Given the description of an element on the screen output the (x, y) to click on. 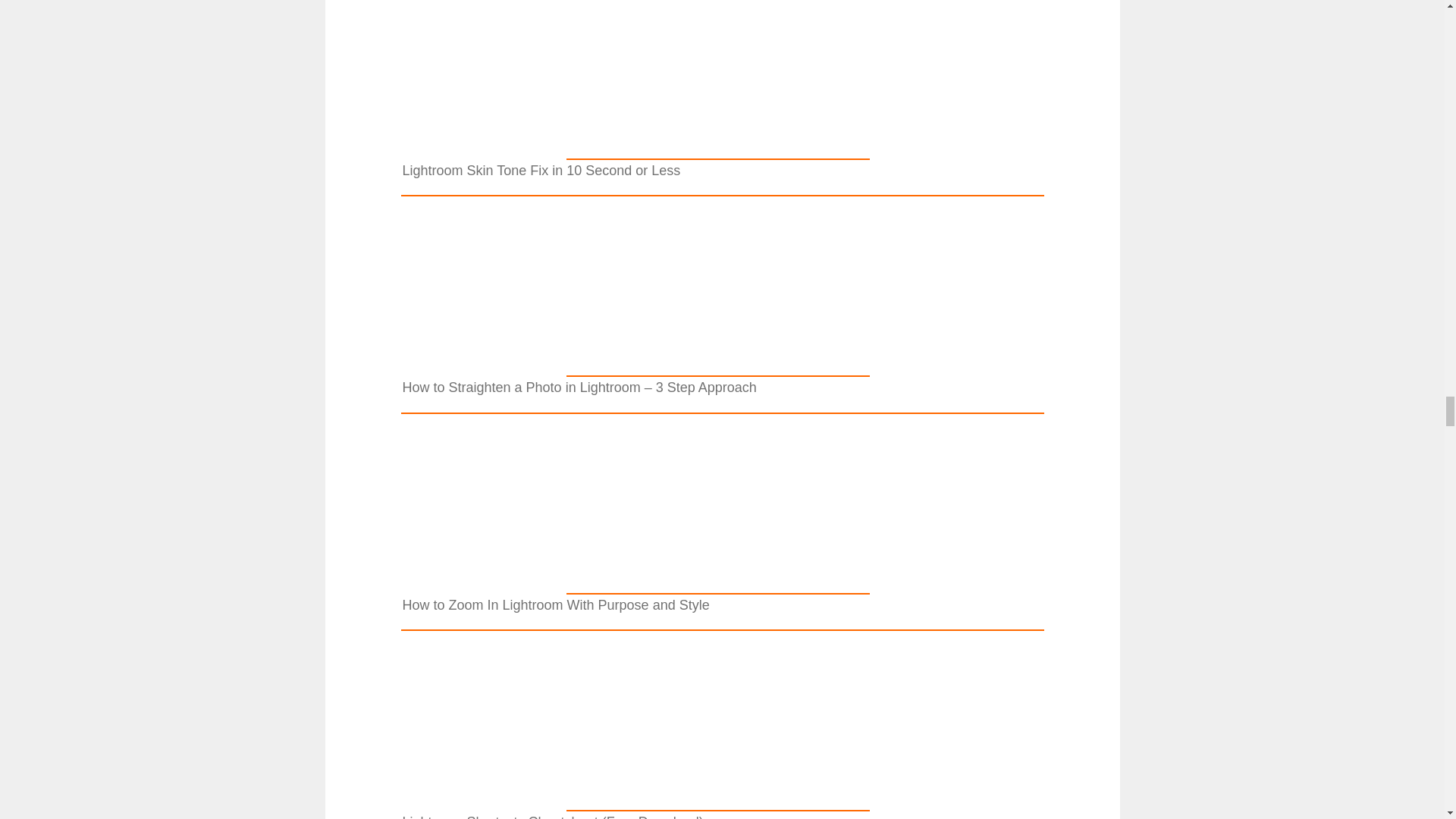
Lightroom Skin Tone Fix in 10 Second or Less (717, 149)
How to Zoom In Lightroom With Purpose and Style (717, 584)
